Given the description of an element on the screen output the (x, y) to click on. 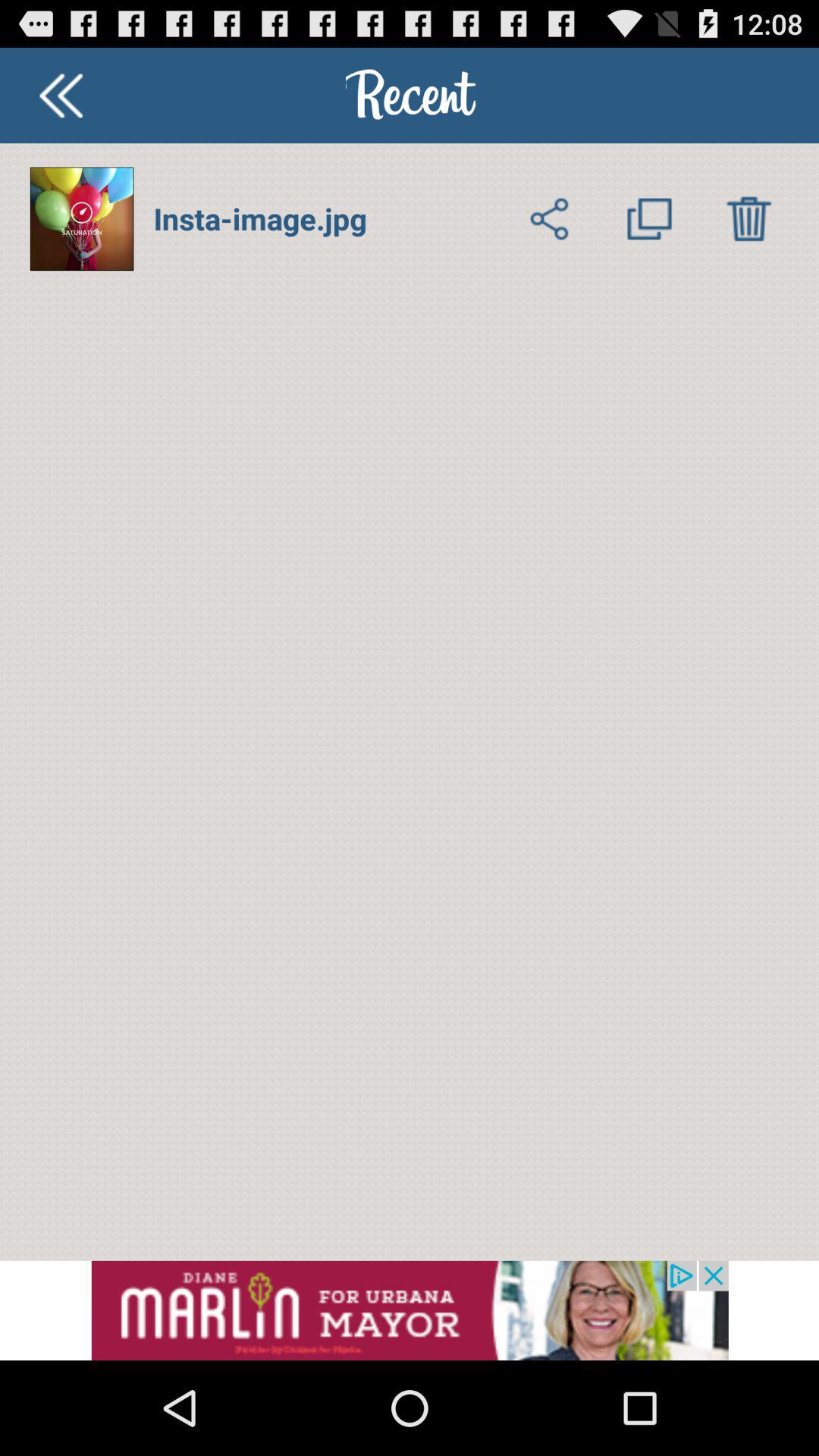
delete option (748, 218)
